Given the description of an element on the screen output the (x, y) to click on. 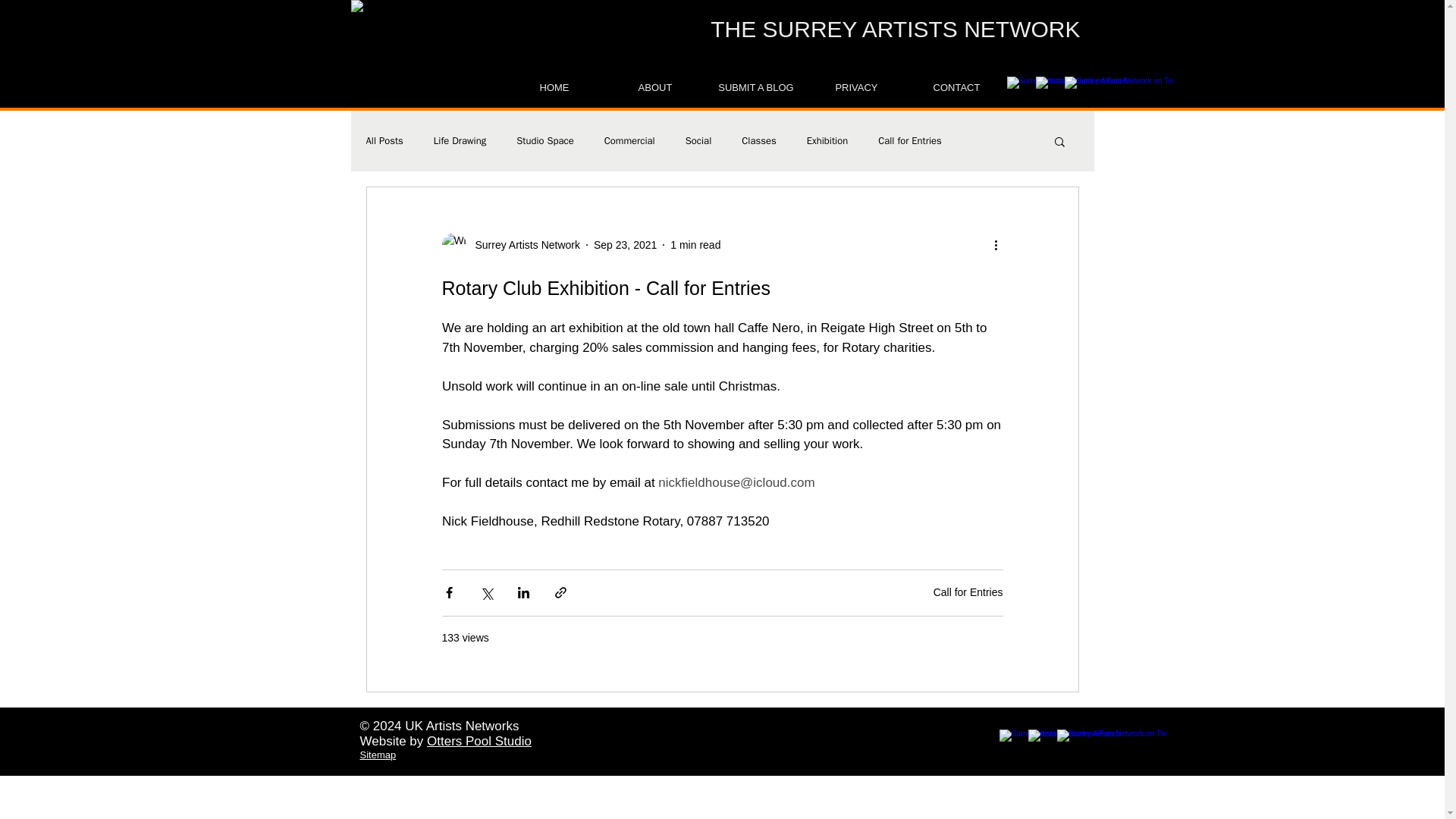
Social (698, 141)
ABOUT (655, 87)
SUBMIT A BLOG (755, 87)
Otters Pool Studio (478, 740)
Call for Entries (909, 141)
Commercial (629, 141)
Surrey Artists Network (522, 244)
Sep 23, 2021 (625, 244)
Classes (758, 141)
Sitemap (377, 754)
